Given the description of an element on the screen output the (x, y) to click on. 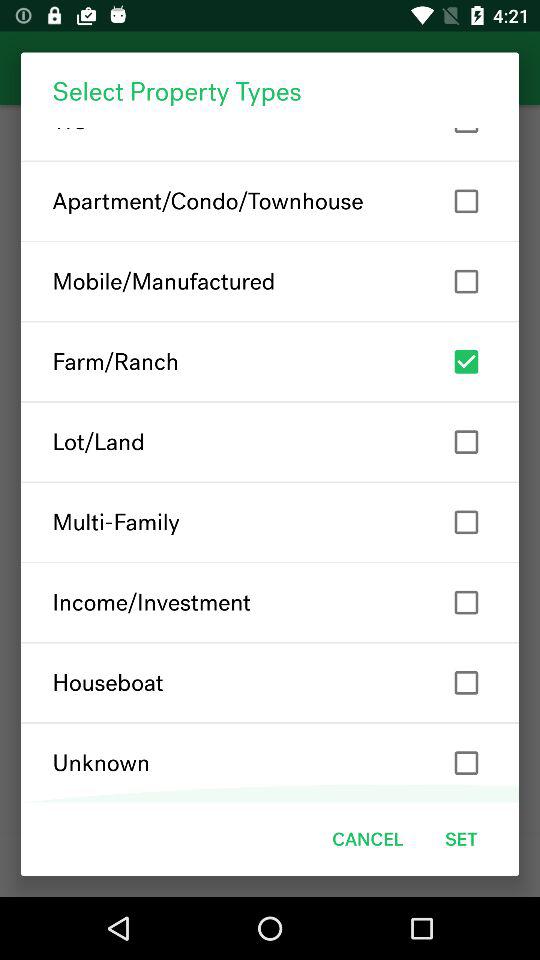
flip until multi-family (270, 522)
